Given the description of an element on the screen output the (x, y) to click on. 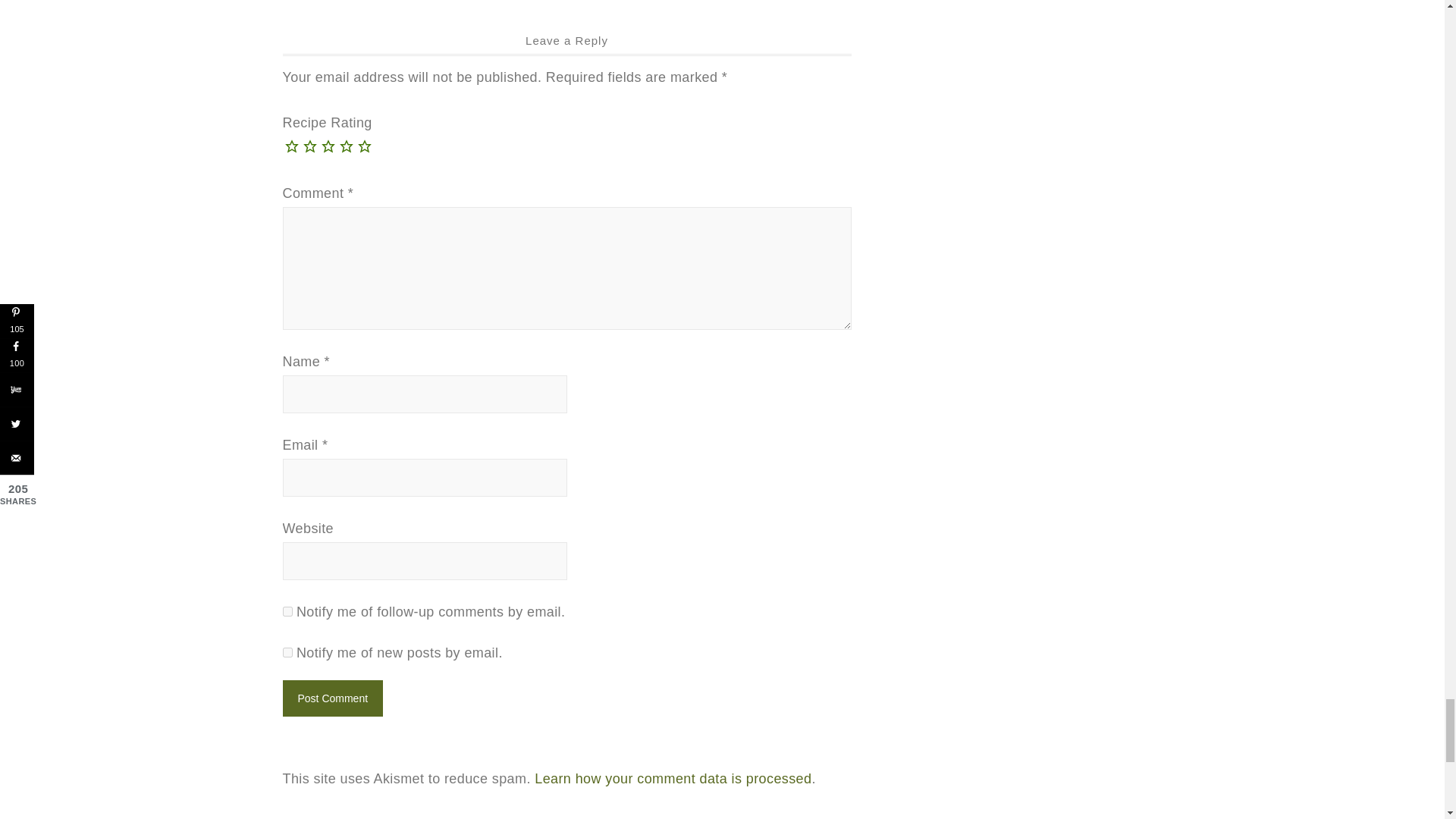
subscribe (287, 611)
subscribe (287, 652)
Post Comment (332, 698)
